Given the description of an element on the screen output the (x, y) to click on. 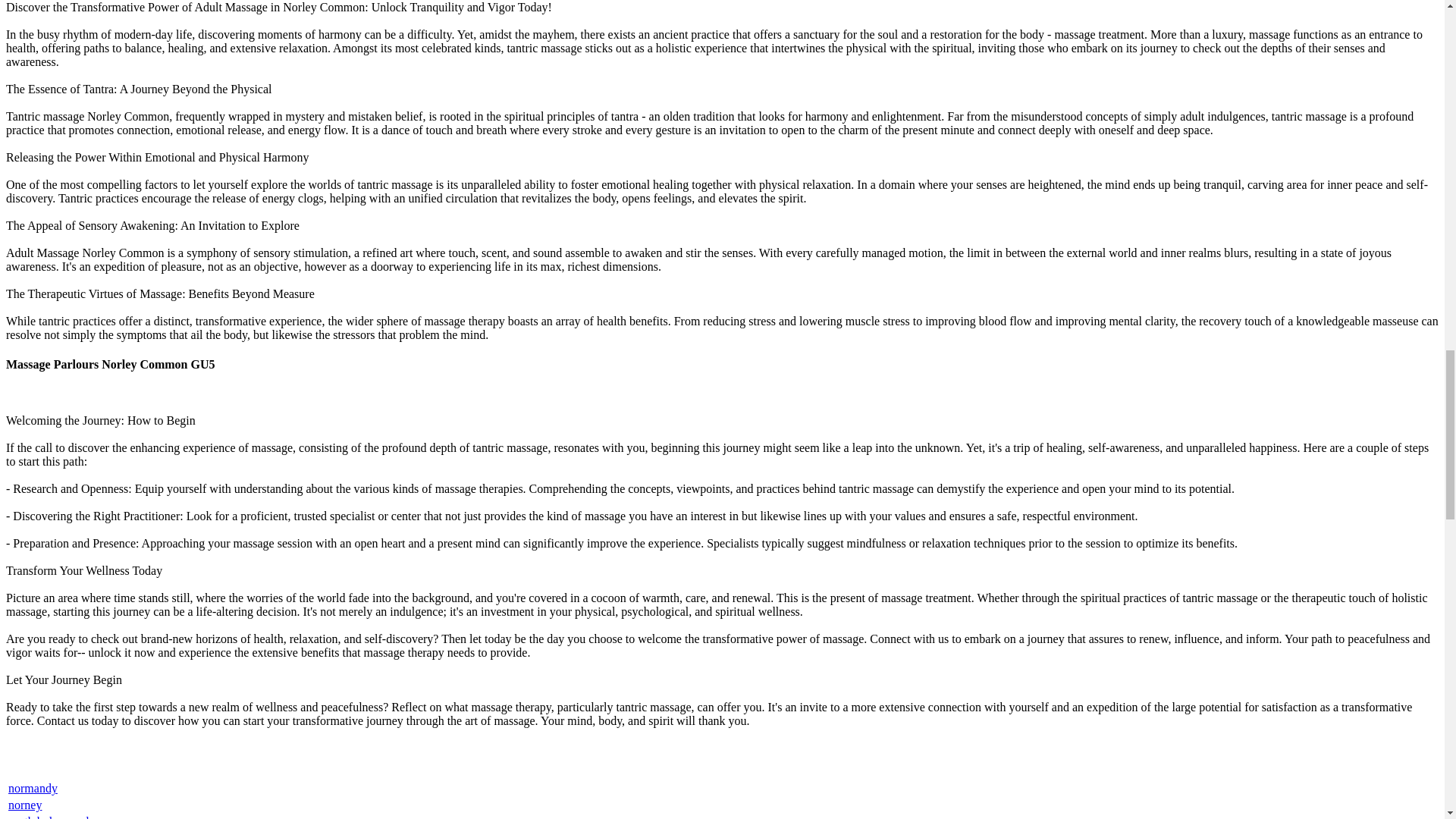
norney (25, 804)
north holmwood (48, 816)
normandy (33, 788)
